Given the description of an element on the screen output the (x, y) to click on. 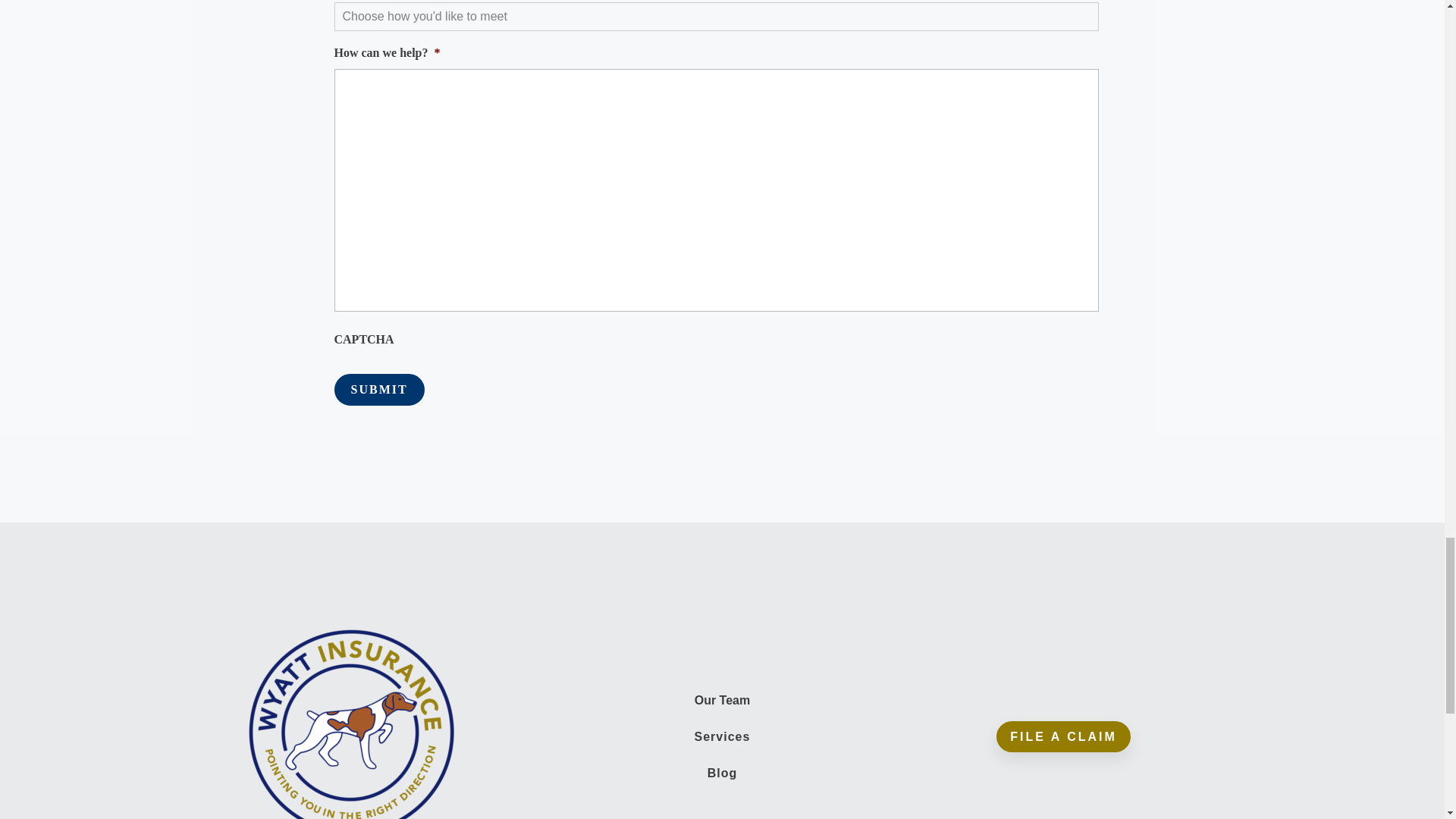
Services (722, 736)
Submit (378, 389)
Submit (378, 389)
FILE A CLAIM (1063, 736)
Blog (722, 772)
Our Team (722, 699)
